Given the description of an element on the screen output the (x, y) to click on. 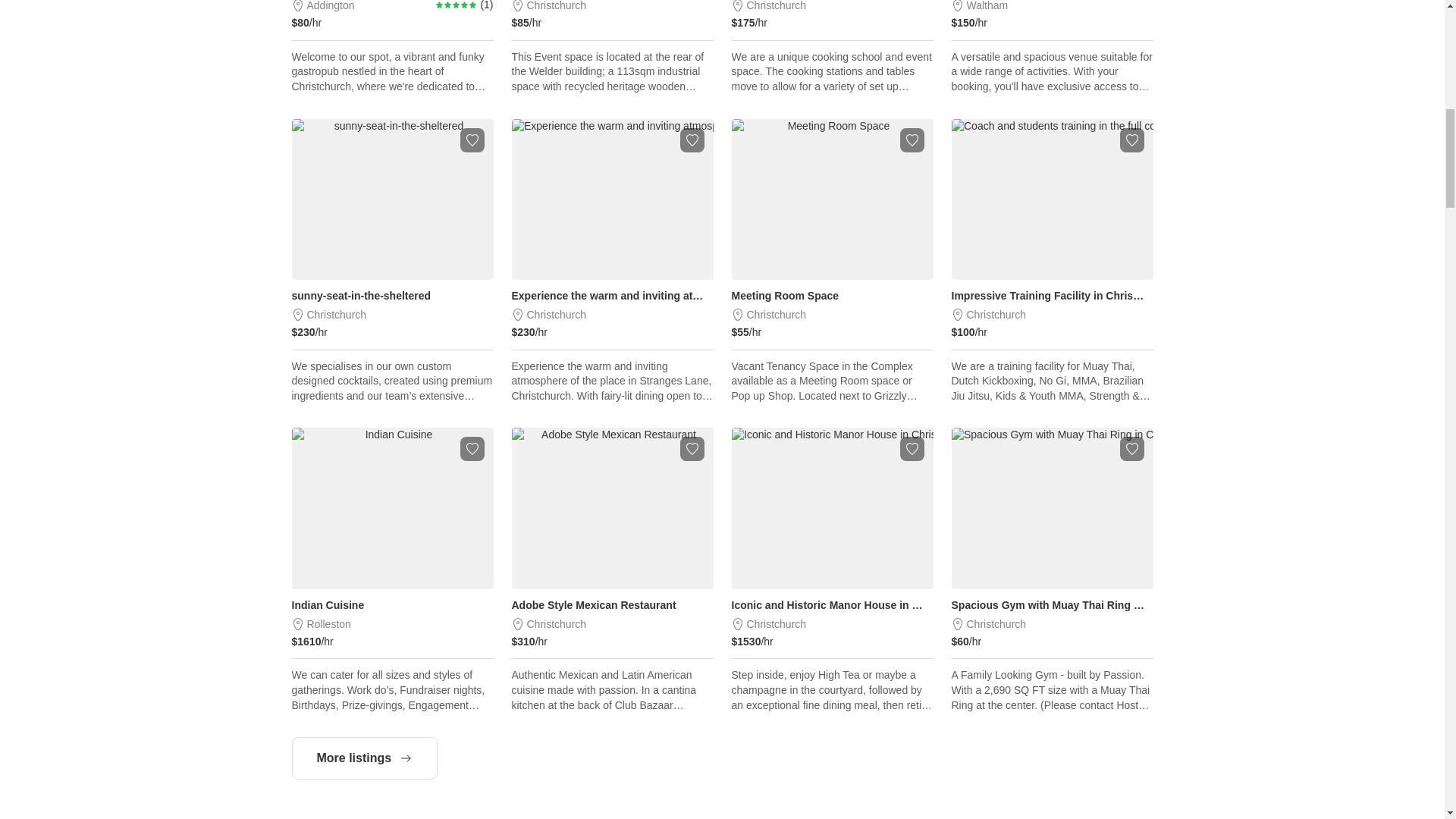
113sqm Industrial Space in Christchurch (612, 47)
Homey Gastropub in Addington, Christchurch  (392, 47)
Cooking School and Event Space (831, 47)
5 (456, 4)
